Given the description of an element on the screen output the (x, y) to click on. 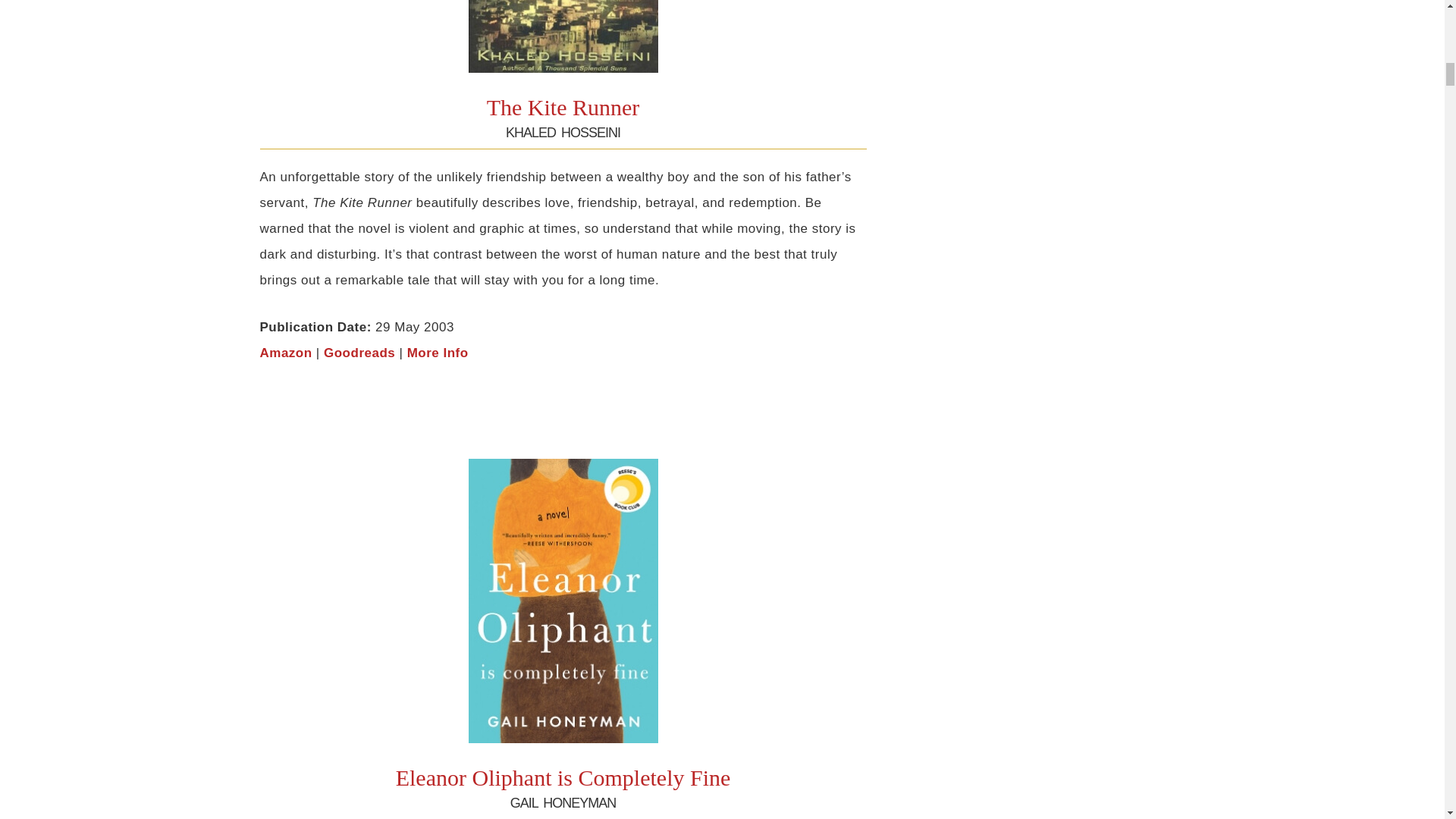
More Info (437, 352)
Eleanor Oliphant is Completely Fine (563, 777)
Amazon (285, 352)
The Kite Runner (563, 107)
Goodreads (358, 352)
